Given the description of an element on the screen output the (x, y) to click on. 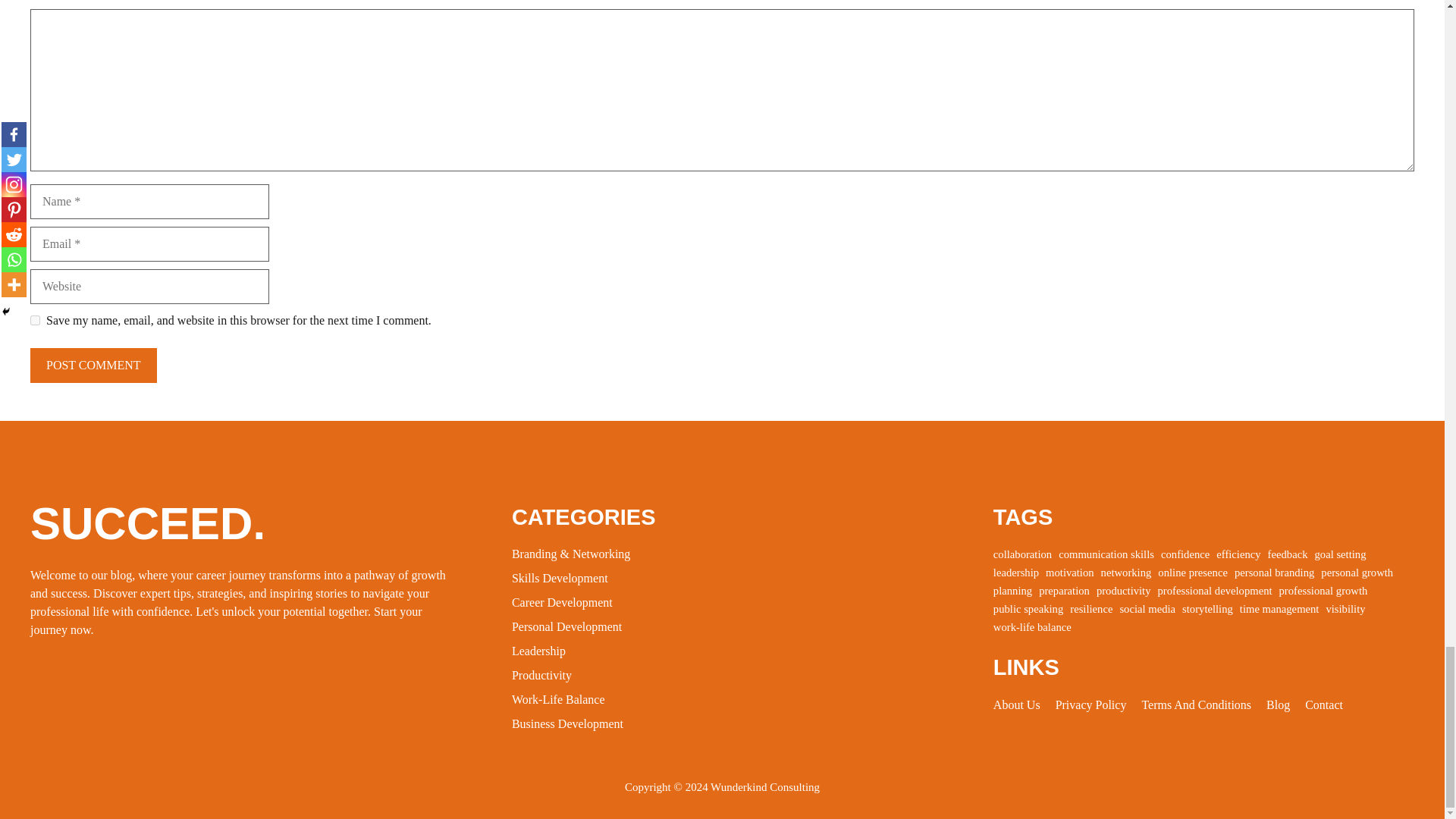
Post Comment (93, 364)
yes (35, 320)
